Given the description of an element on the screen output the (x, y) to click on. 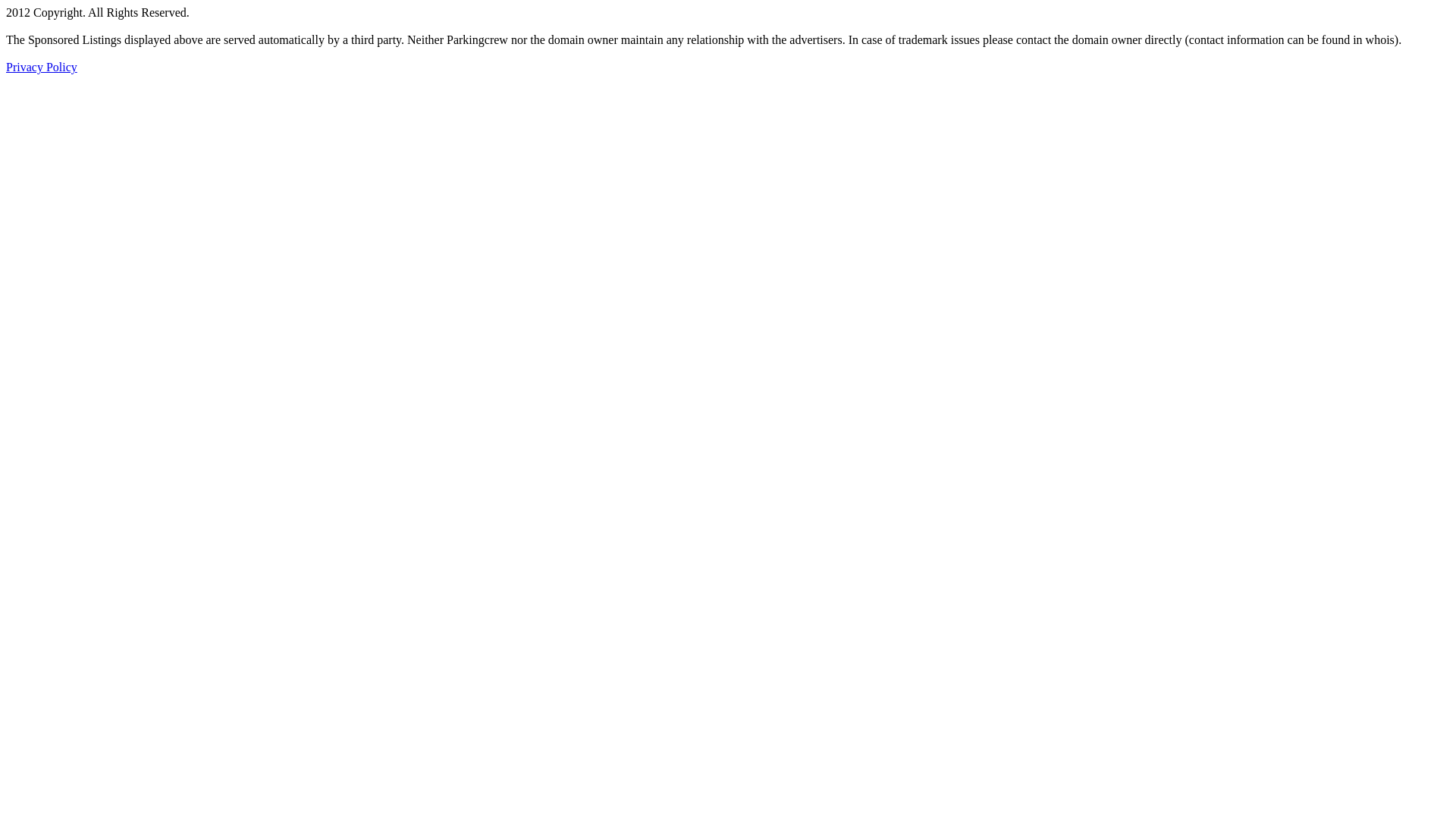
Privacy Policy Element type: text (41, 66)
